Given the description of an element on the screen output the (x, y) to click on. 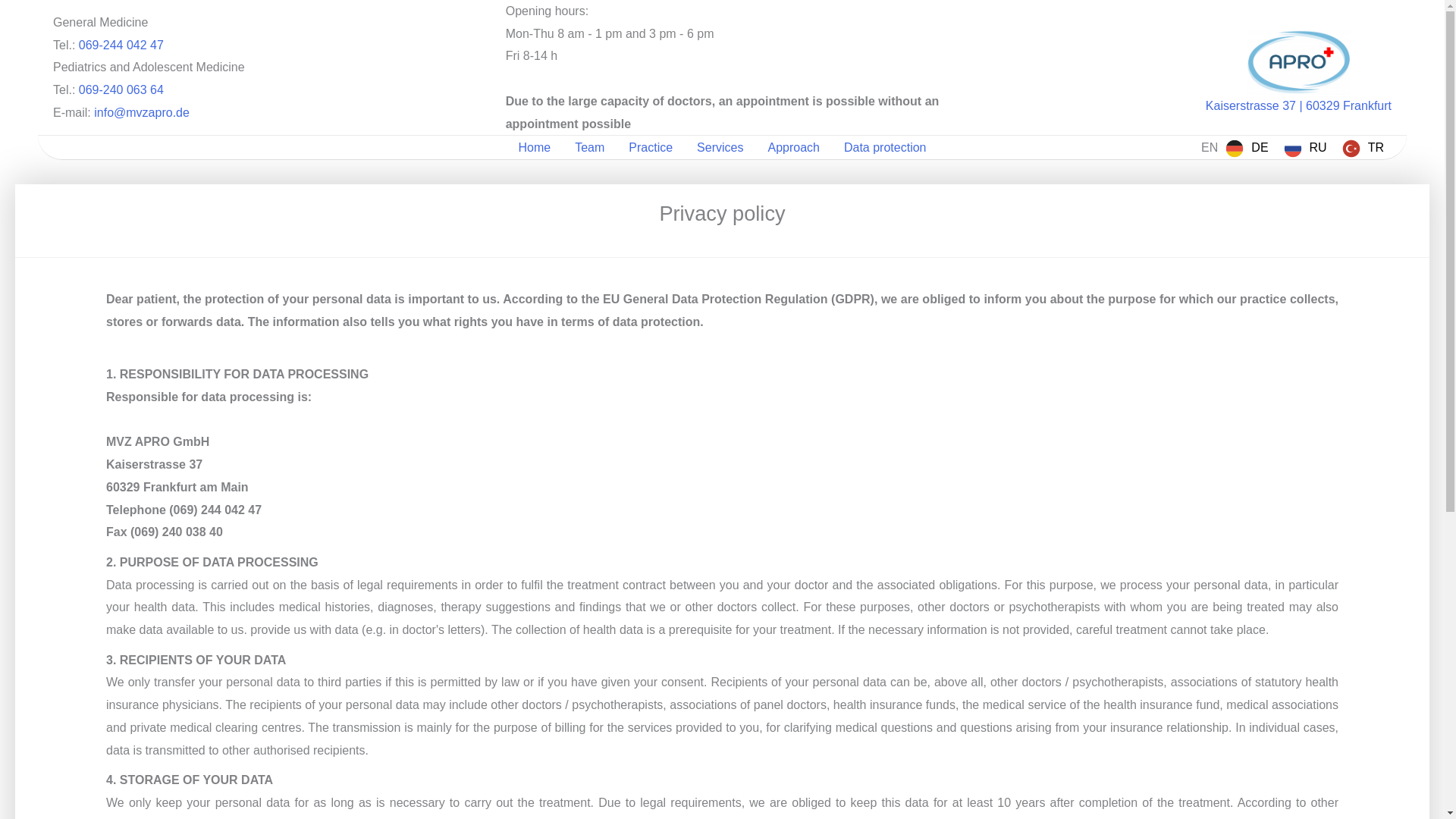
Language switcher : Russian (1305, 146)
Services (719, 147)
RU (1305, 146)
Team (588, 147)
069-244 042 47 (120, 44)
Practice (649, 147)
Home (534, 147)
TR (1363, 146)
069-240 063 64 (120, 89)
Data protection (885, 147)
